Given the description of an element on the screen output the (x, y) to click on. 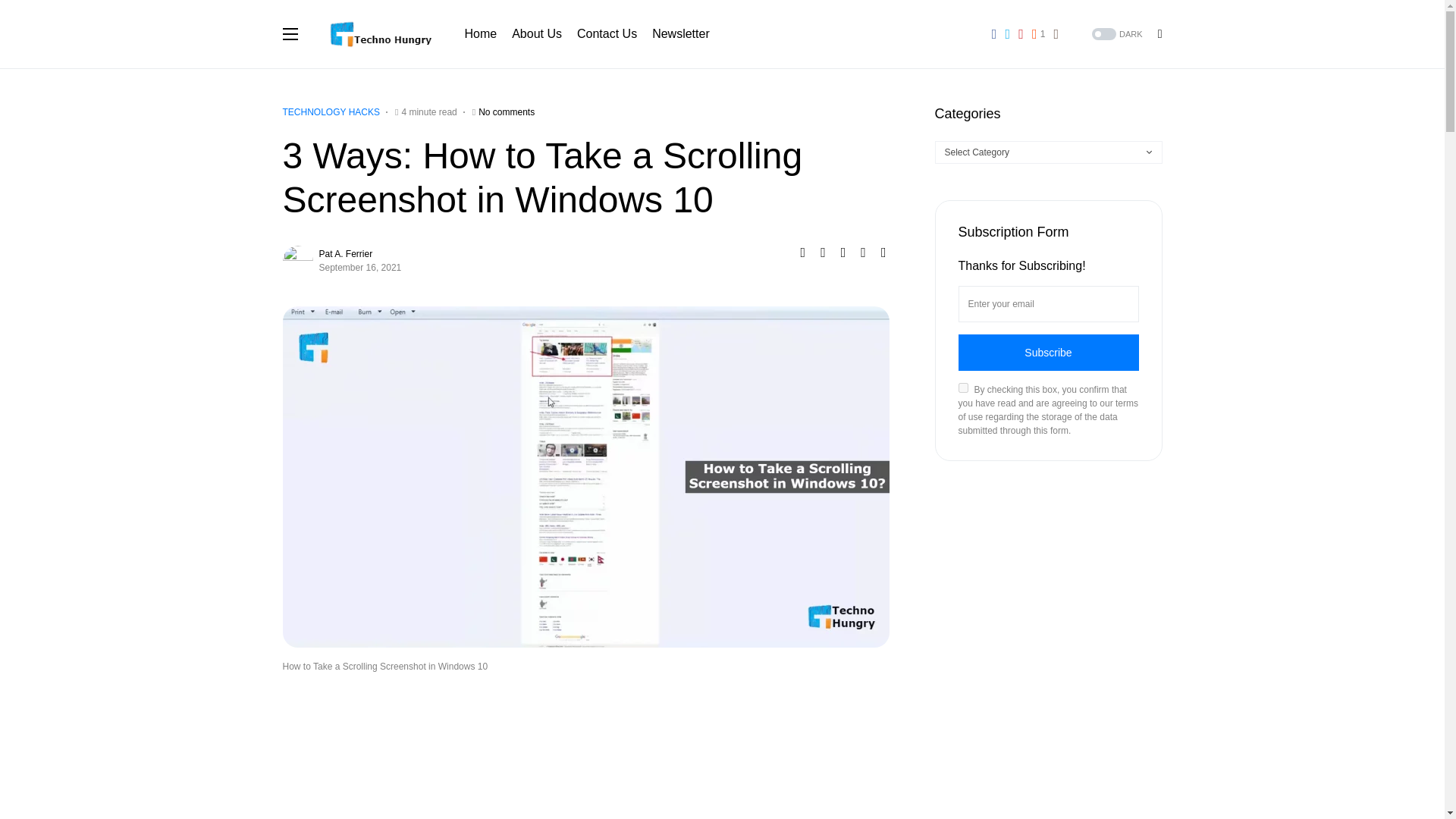
on (963, 388)
Advertisement (585, 749)
